Given the description of an element on the screen output the (x, y) to click on. 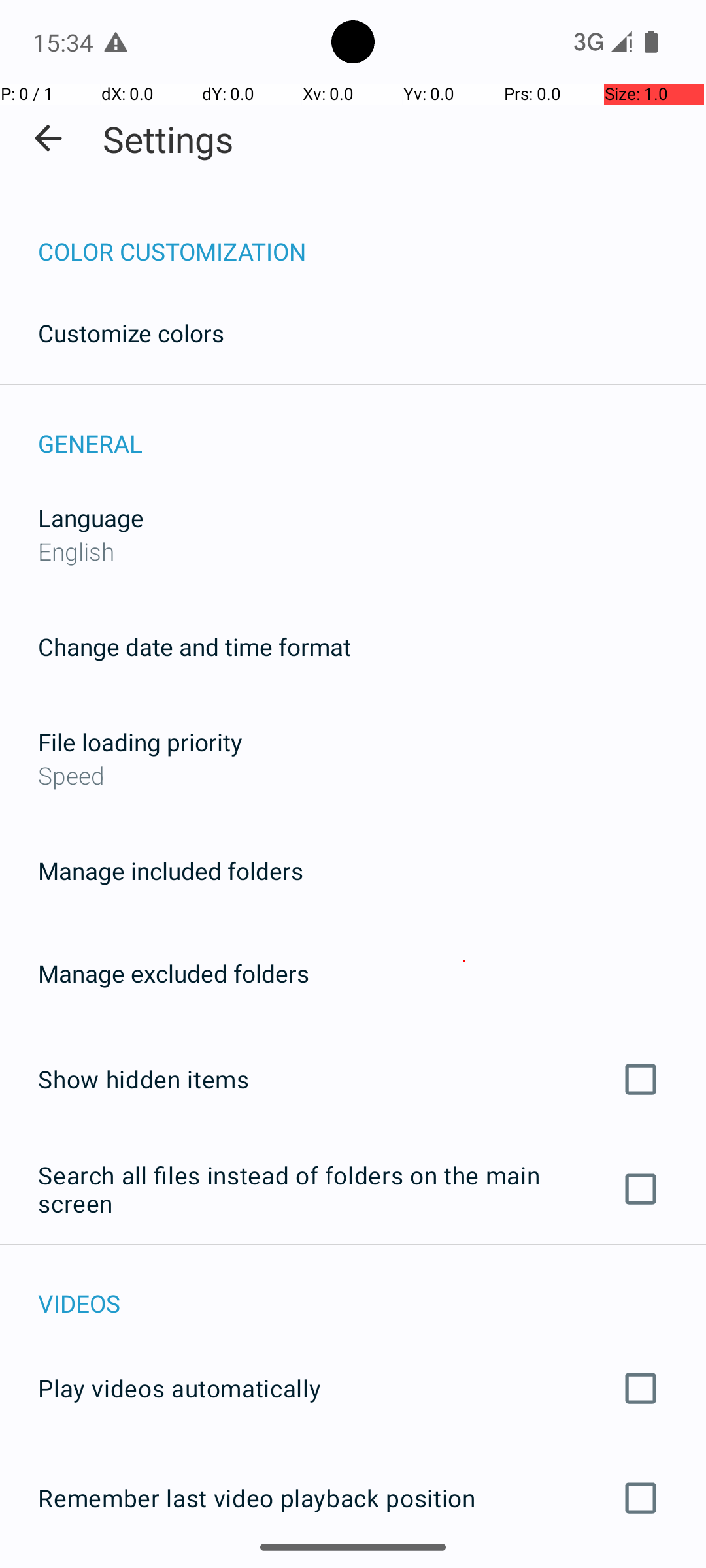
COLOR CUSTOMIZATION Element type: android.widget.TextView (371, 237)
GENERAL Element type: android.widget.TextView (371, 429)
VIDEOS Element type: android.widget.TextView (371, 1289)
Customize colors Element type: android.widget.TextView (130, 332)
Language Element type: android.widget.TextView (90, 517)
English Element type: android.widget.TextView (75, 550)
Change date and time format Element type: android.widget.TextView (194, 646)
File loading priority Element type: android.widget.TextView (139, 741)
Speed Element type: android.widget.TextView (352, 774)
Manage included folders Element type: android.widget.TextView (170, 870)
Manage excluded folders Element type: android.widget.TextView (173, 972)
Show hidden items Element type: android.widget.CheckBox (352, 1079)
Search all files instead of folders on the main screen Element type: android.widget.CheckBox (352, 1188)
Play videos automatically Element type: android.widget.CheckBox (352, 1388)
Remember last video playback position Element type: android.widget.CheckBox (352, 1497)
Loop videos Element type: android.widget.CheckBox (352, 1567)
